Given the description of an element on the screen output the (x, y) to click on. 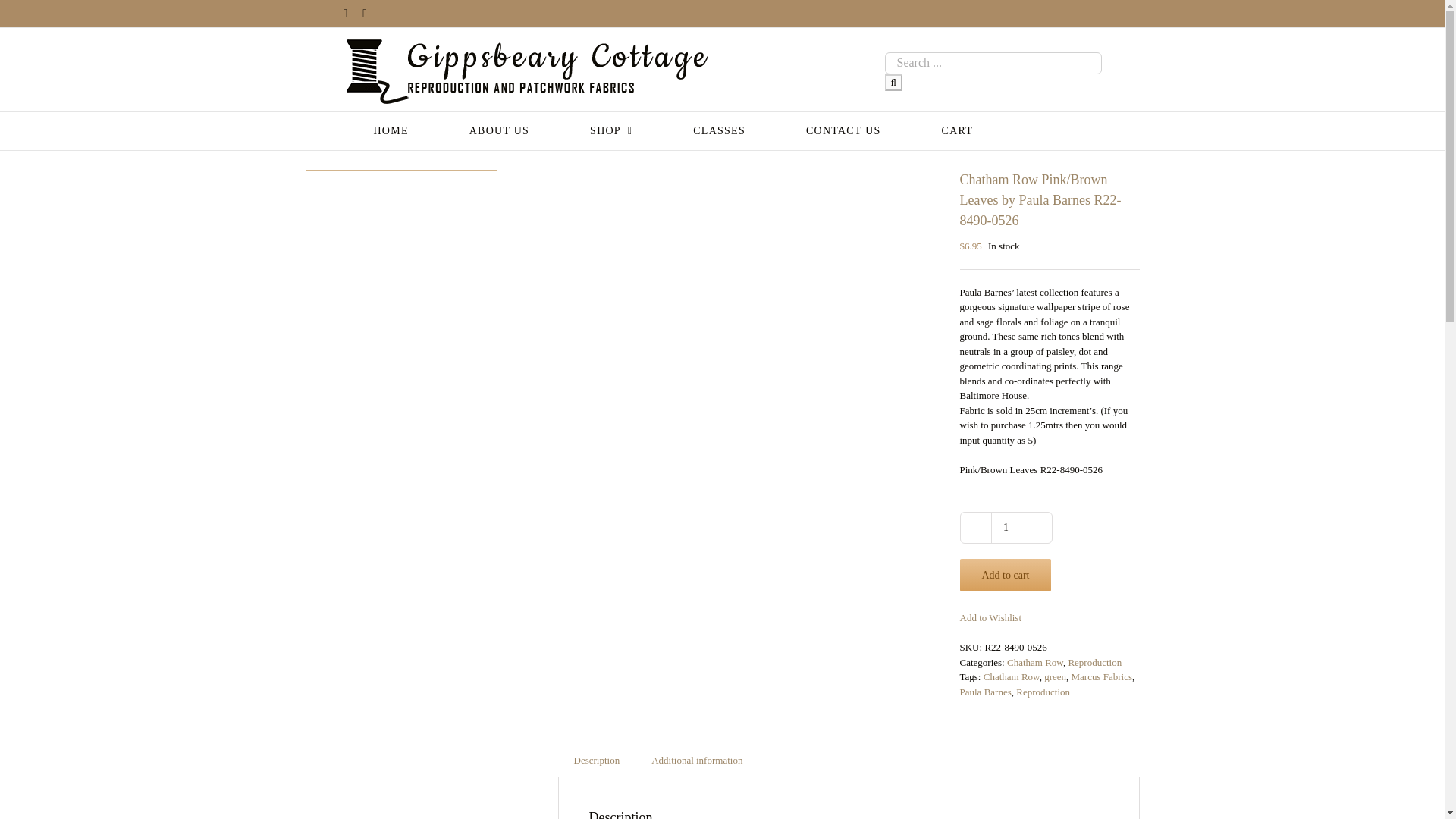
HOME (390, 130)
ABOUT US (499, 130)
1 (1005, 527)
SHOP (610, 130)
